Given the description of an element on the screen output the (x, y) to click on. 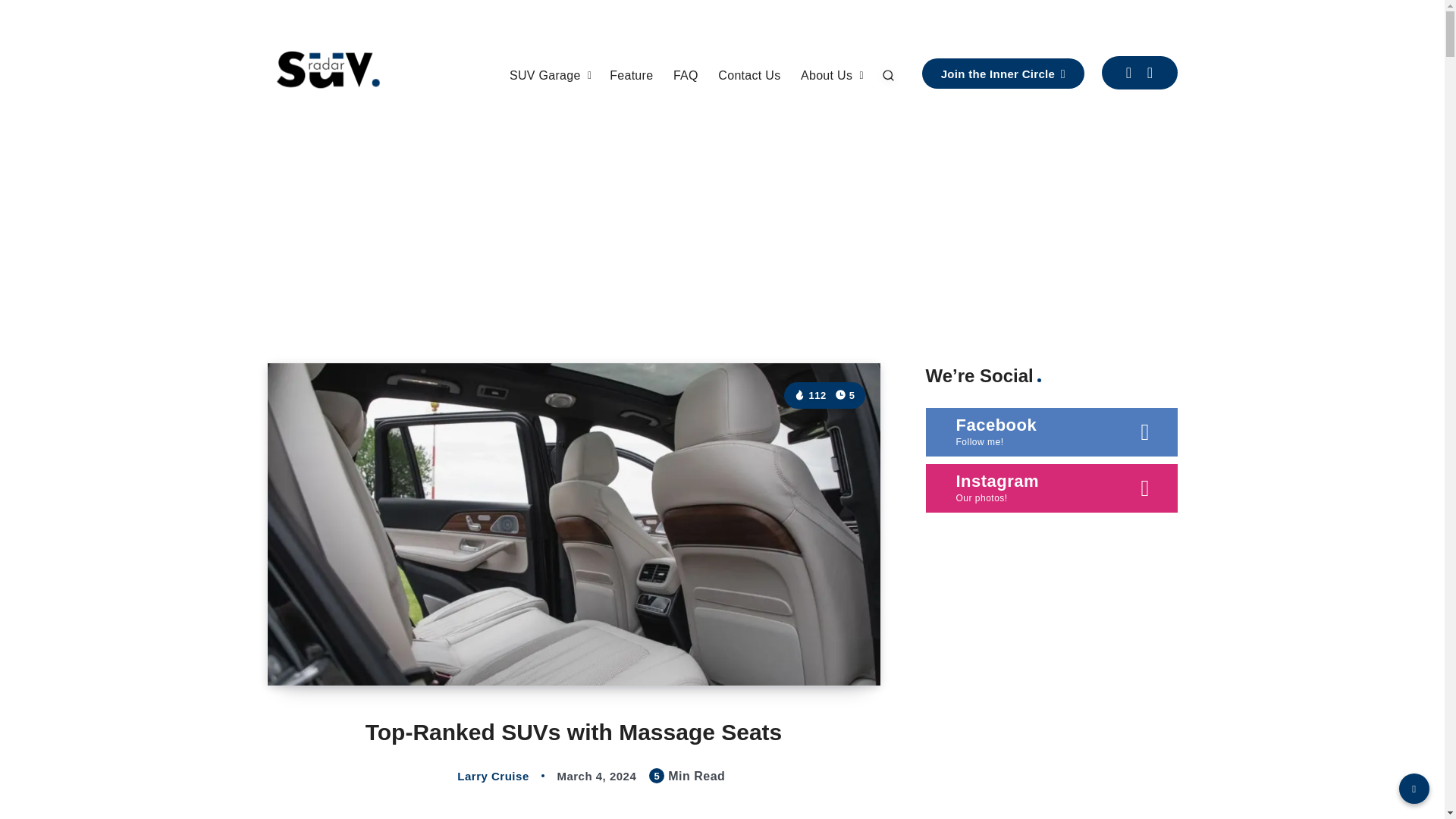
Feature (631, 75)
About Us (825, 75)
112 Views (809, 395)
5 Min Read (845, 395)
SUV Garage (544, 75)
Author: Larry Cruise (477, 775)
Larry Cruise (477, 775)
FAQ (685, 75)
Contact Us (748, 75)
